Given the description of an element on the screen output the (x, y) to click on. 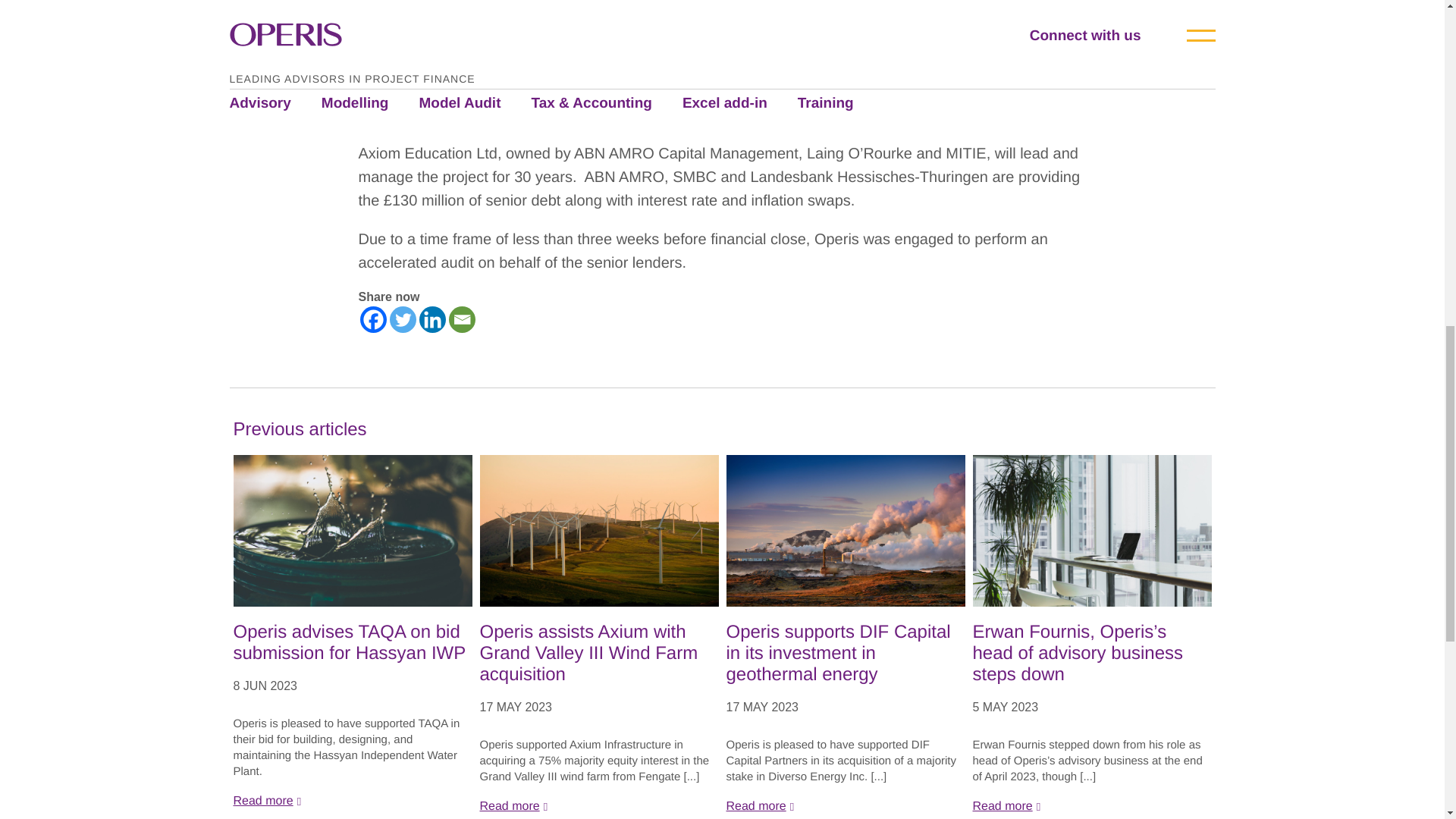
Facebook (372, 319)
Linkedin (432, 319)
Operis advises TAQA on bid submission for Hassyan IWP (351, 530)
Twitter (403, 319)
Operis advises TAQA on bid submission for Hassyan IWP (351, 642)
Read more (351, 801)
Full details (1091, 807)
Full details (598, 807)
Full details (845, 807)
Email (462, 319)
Full details (351, 801)
Operis advises TAQA on bid submission for Hassyan IWP (351, 642)
